Given the description of an element on the screen output the (x, y) to click on. 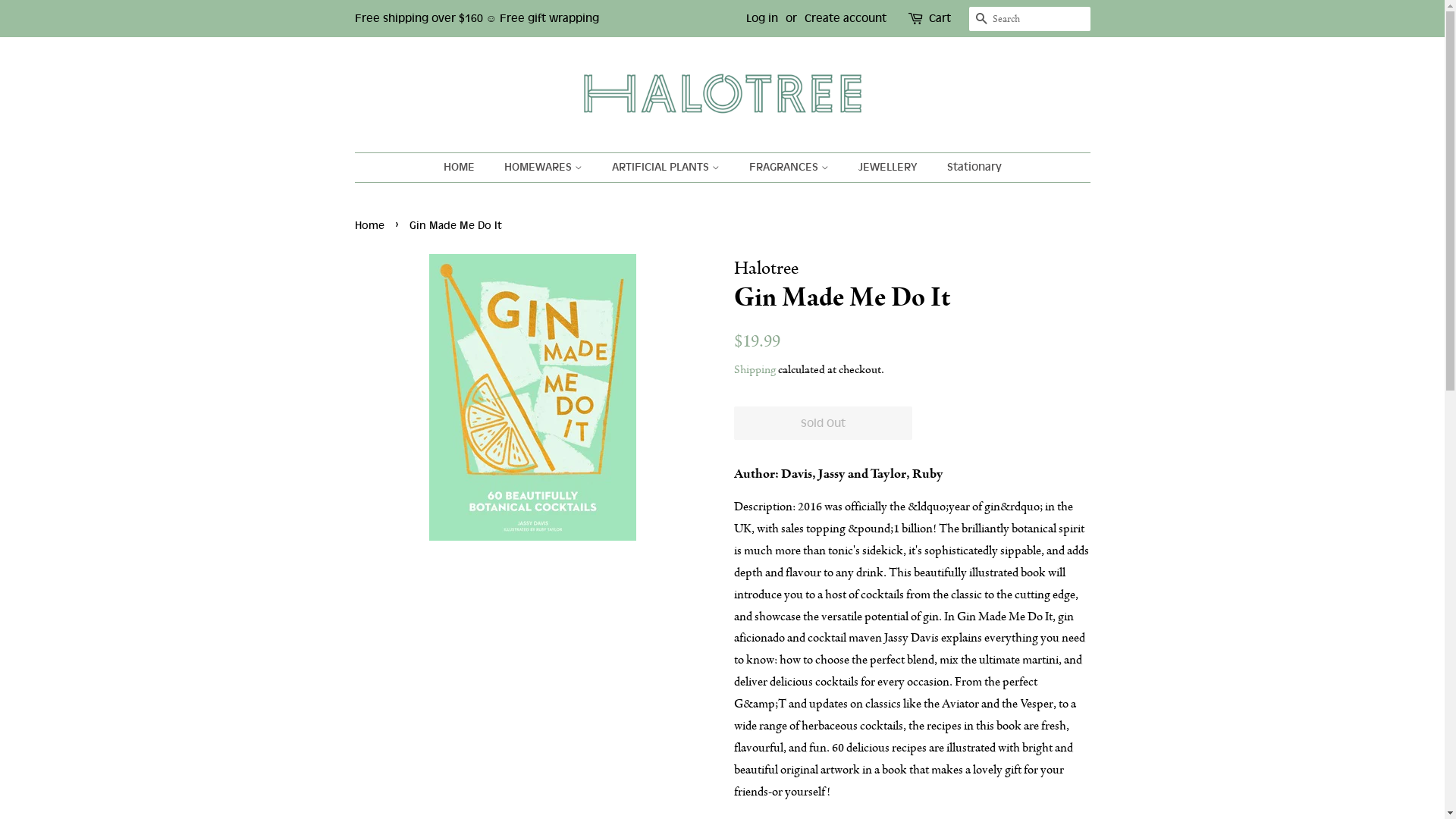
Create account Element type: text (844, 18)
Log in Element type: text (762, 18)
HOMEWARES Element type: text (544, 167)
Cart Element type: text (939, 18)
ARTIFICIAL PLANTS Element type: text (667, 167)
Sold Out Element type: text (823, 422)
Stationary Element type: text (968, 167)
Search Element type: text (981, 18)
HOME Element type: text (465, 167)
Shipping Element type: text (754, 368)
FRAGRANCES Element type: text (790, 167)
JEWELLERY Element type: text (888, 167)
Home Element type: text (371, 224)
